Given the description of an element on the screen output the (x, y) to click on. 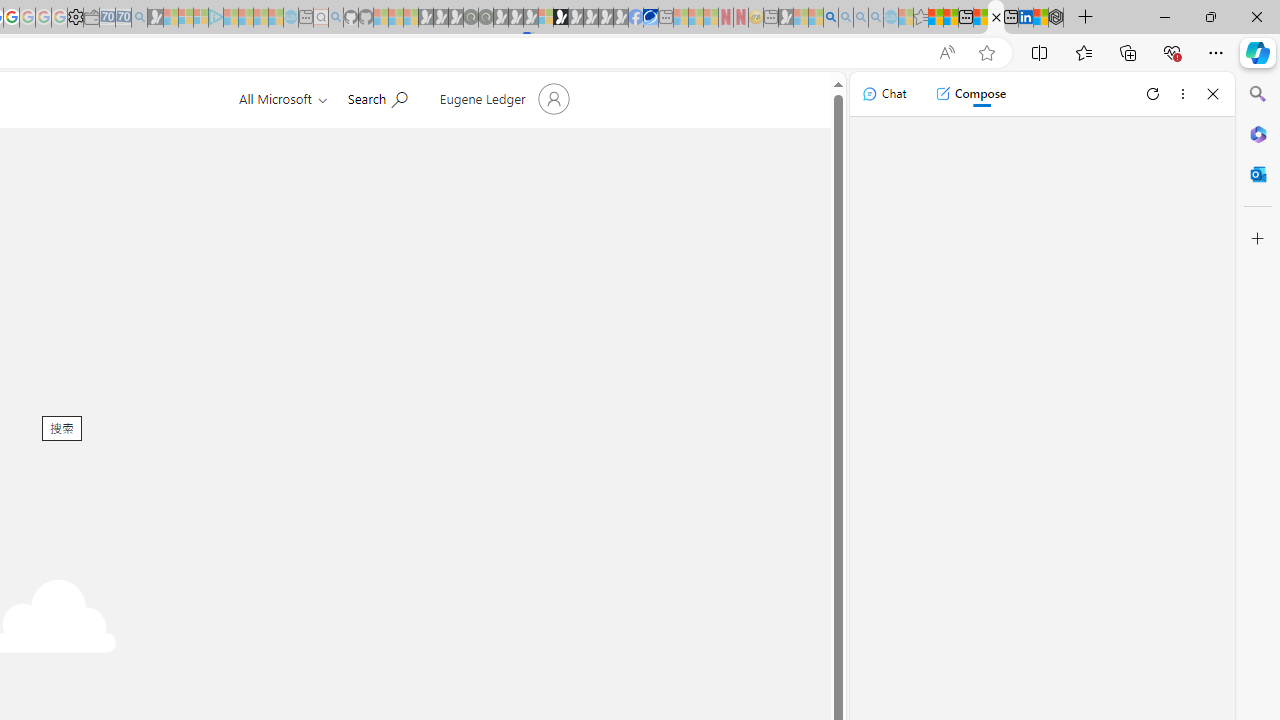
github - Search - Sleeping (336, 17)
MSN - Sleeping (786, 17)
Error - Office.com (996, 17)
Favorites - Sleeping (920, 17)
